Given the description of an element on the screen output the (x, y) to click on. 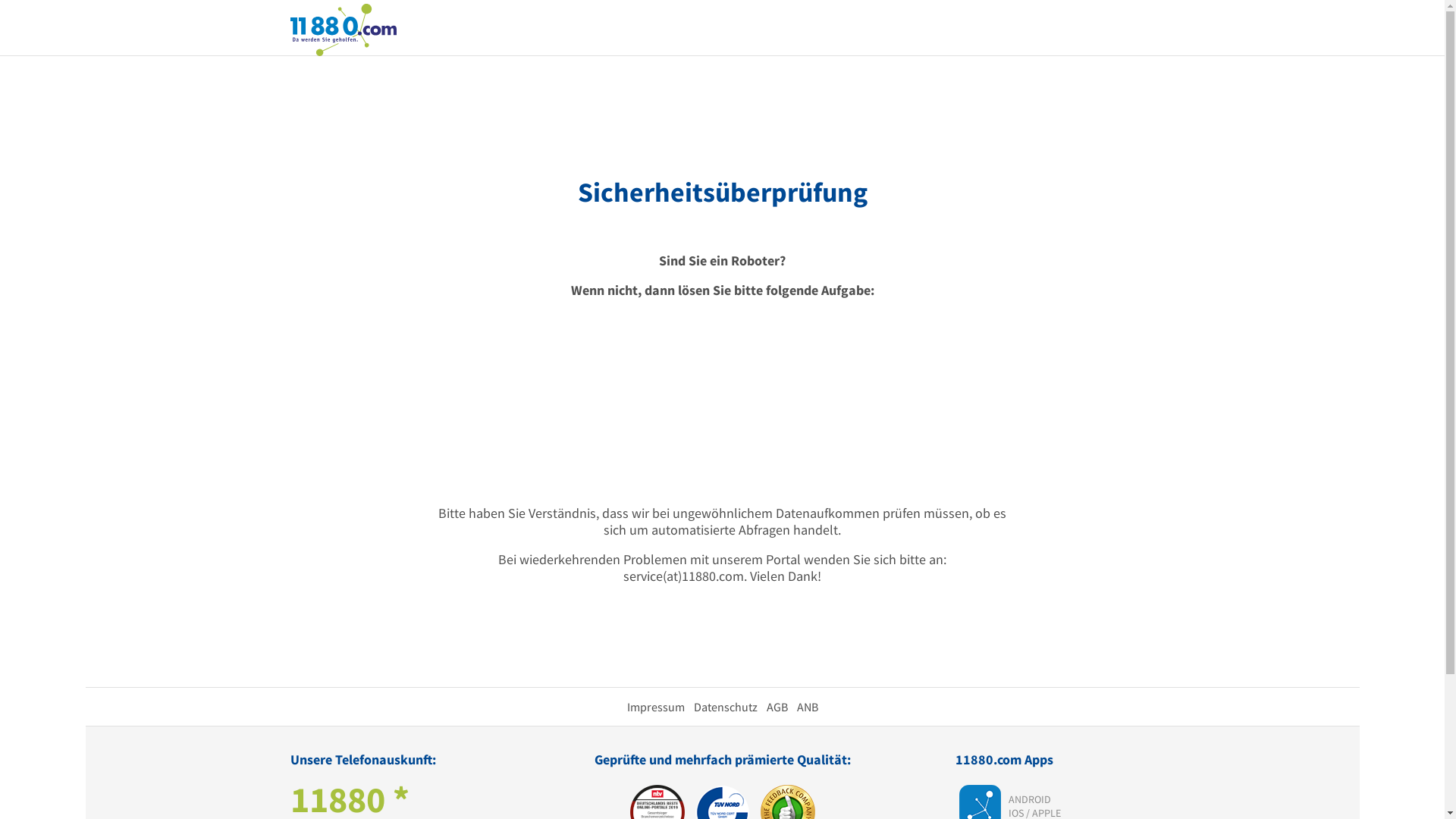
AGB Element type: text (776, 706)
Impressum Element type: text (655, 706)
11880.com Element type: hover (342, 28)
Datenschutz Element type: text (724, 706)
ANB Element type: text (806, 706)
